Given the description of an element on the screen output the (x, y) to click on. 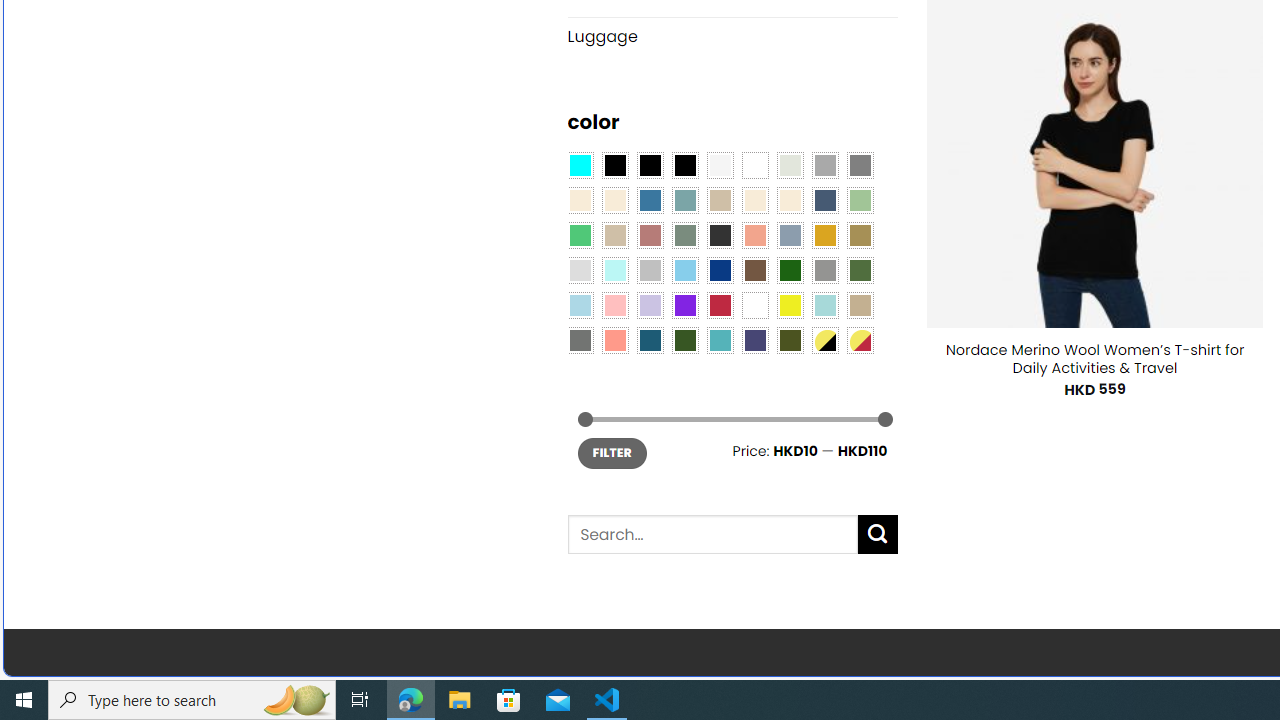
Luggage (732, 36)
Rose (650, 234)
Peach Pink (614, 339)
Silver (650, 269)
Purple Navy (755, 339)
Black (650, 164)
Black-Brown (684, 164)
Capri Blue (650, 339)
Kelp (859, 234)
Coral (755, 234)
White (755, 305)
Pearly White (719, 164)
Brown (755, 269)
Mint (614, 269)
Red (719, 305)
